Given the description of an element on the screen output the (x, y) to click on. 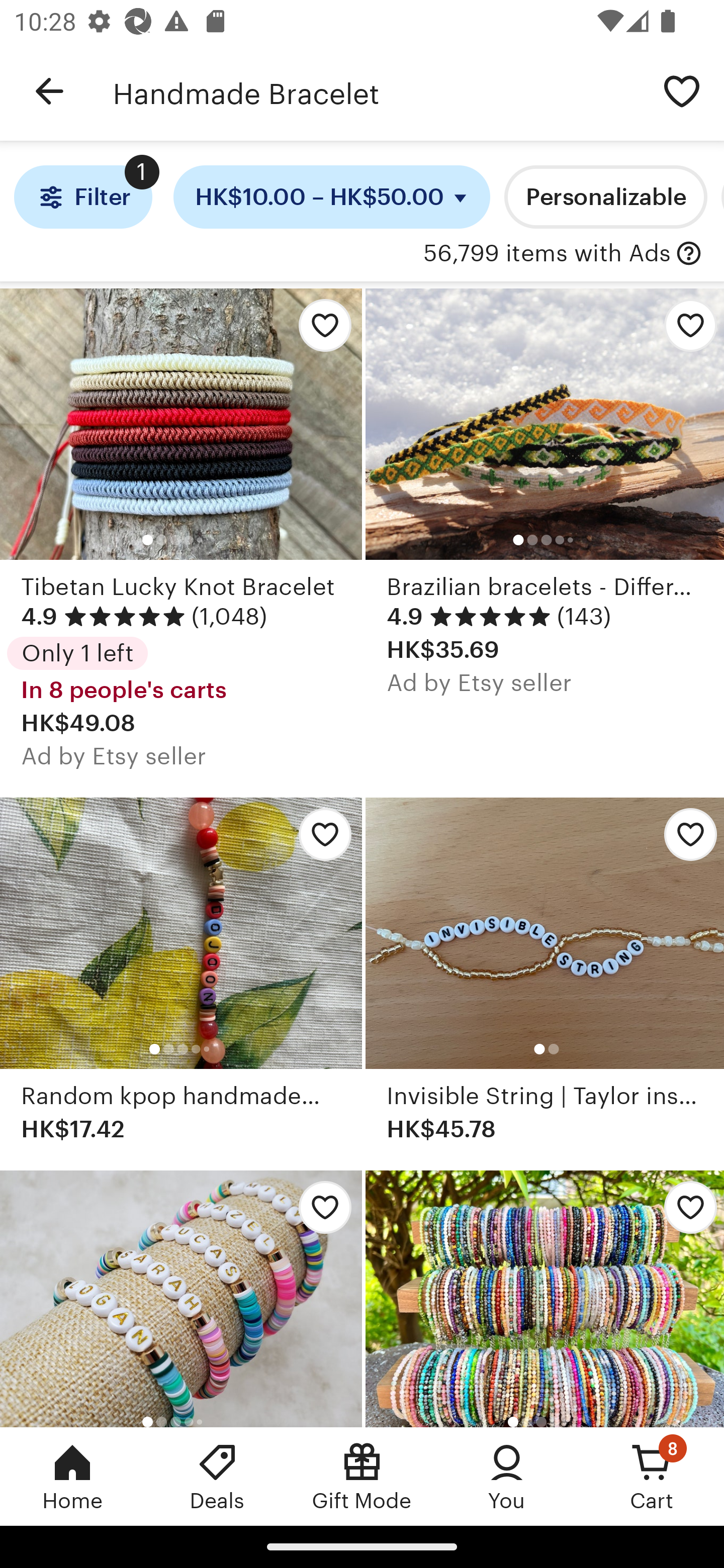
Navigate up (49, 91)
Save search (681, 90)
Handmade Bracelet (375, 91)
Filter (82, 197)
HK$10.00 – HK$50.00 (331, 197)
Personalizable (605, 197)
56,799 items with Ads (547, 253)
with Ads (688, 253)
Add Tibetan Lucky Knot Bracelet to favorites (319, 330)
Add Random kpop handmade bracelet to favorites (319, 839)
Deals (216, 1475)
Gift Mode (361, 1475)
You (506, 1475)
Cart, 8 new notifications Cart (651, 1475)
